Given the description of an element on the screen output the (x, y) to click on. 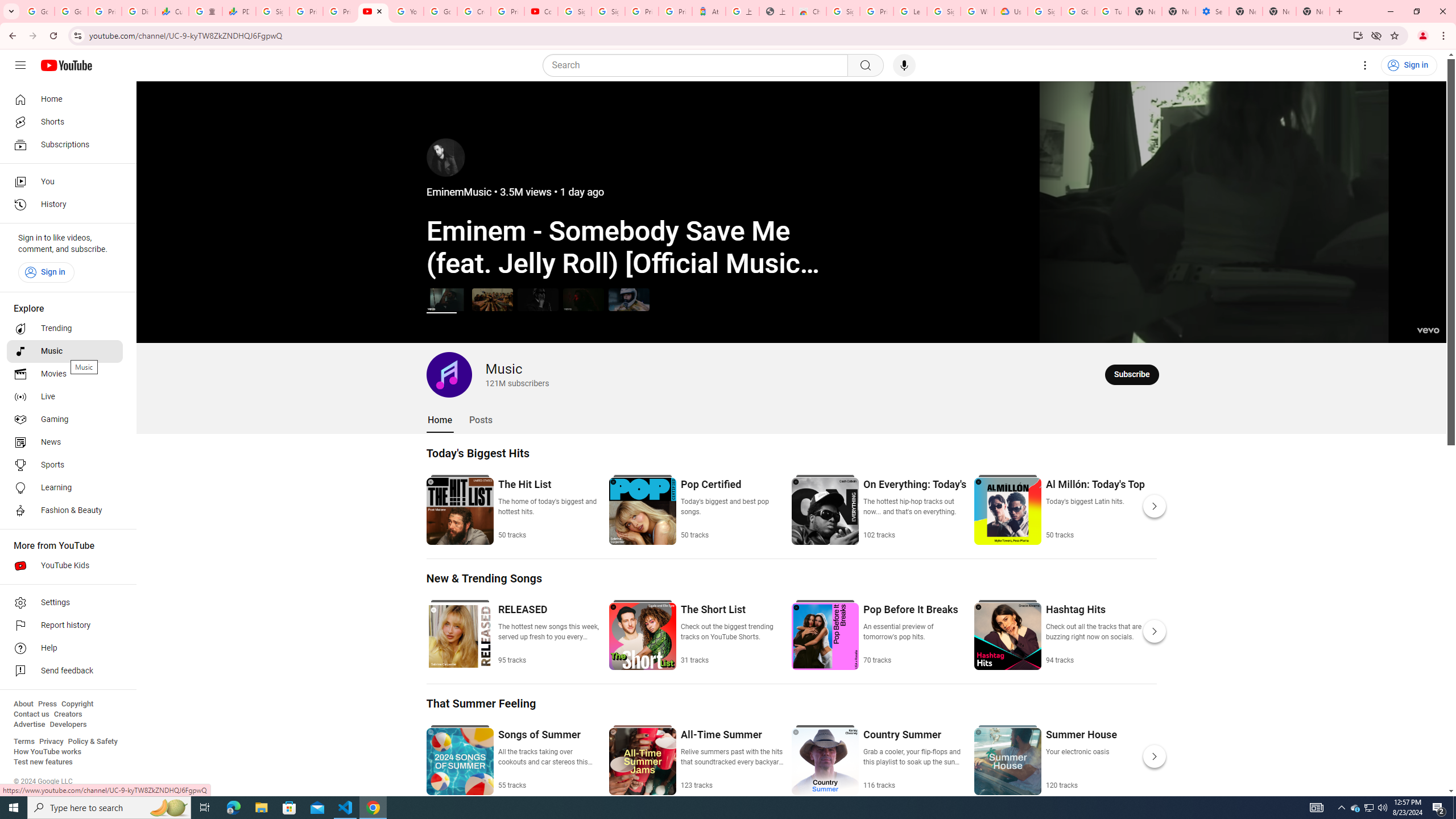
New & Trending Songs (484, 578)
History (64, 204)
Channel watermark (1427, 324)
About (23, 703)
Currencies - Google Finance (171, 11)
That Summer Feeling (480, 703)
Subscriptions (64, 144)
Sign in - Google Accounts (272, 11)
Content Creator Programs & Opportunities - YouTube Creators (541, 11)
Channel watermark (1427, 324)
Hozier - Nobody's Soldier (Official Video) (583, 299)
